Given the description of an element on the screen output the (x, y) to click on. 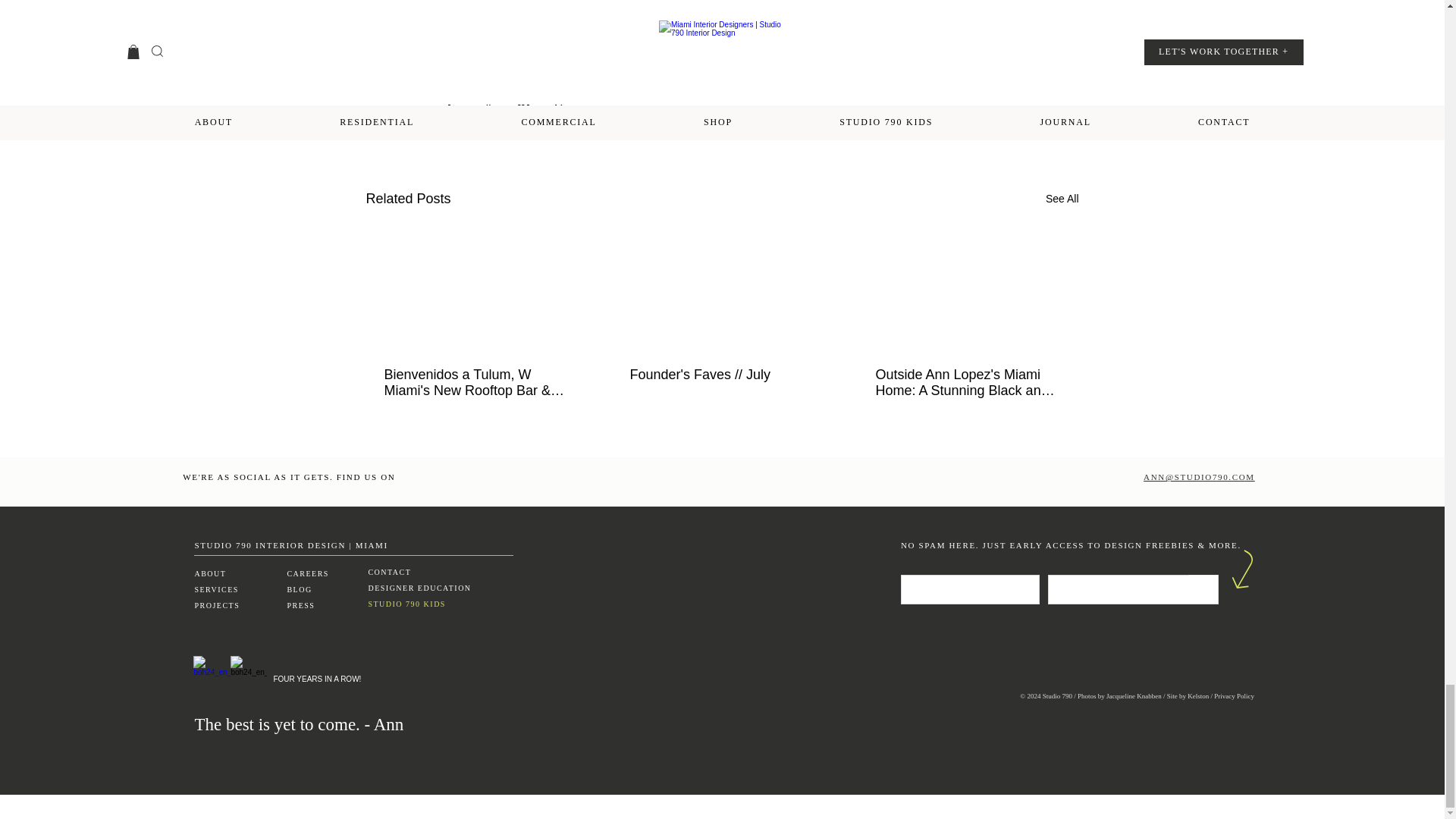
BLOG (298, 589)
PRESS (300, 605)
CONTACT (389, 572)
CAREERS (307, 573)
PROJECTS (216, 605)
STUDIO 790 KIDS (406, 603)
ABOUT (209, 573)
DESIGNER EDUCATION (419, 587)
See All (1061, 198)
SERVICES  (217, 589)
GO (1202, 586)
